Given the description of an element on the screen output the (x, y) to click on. 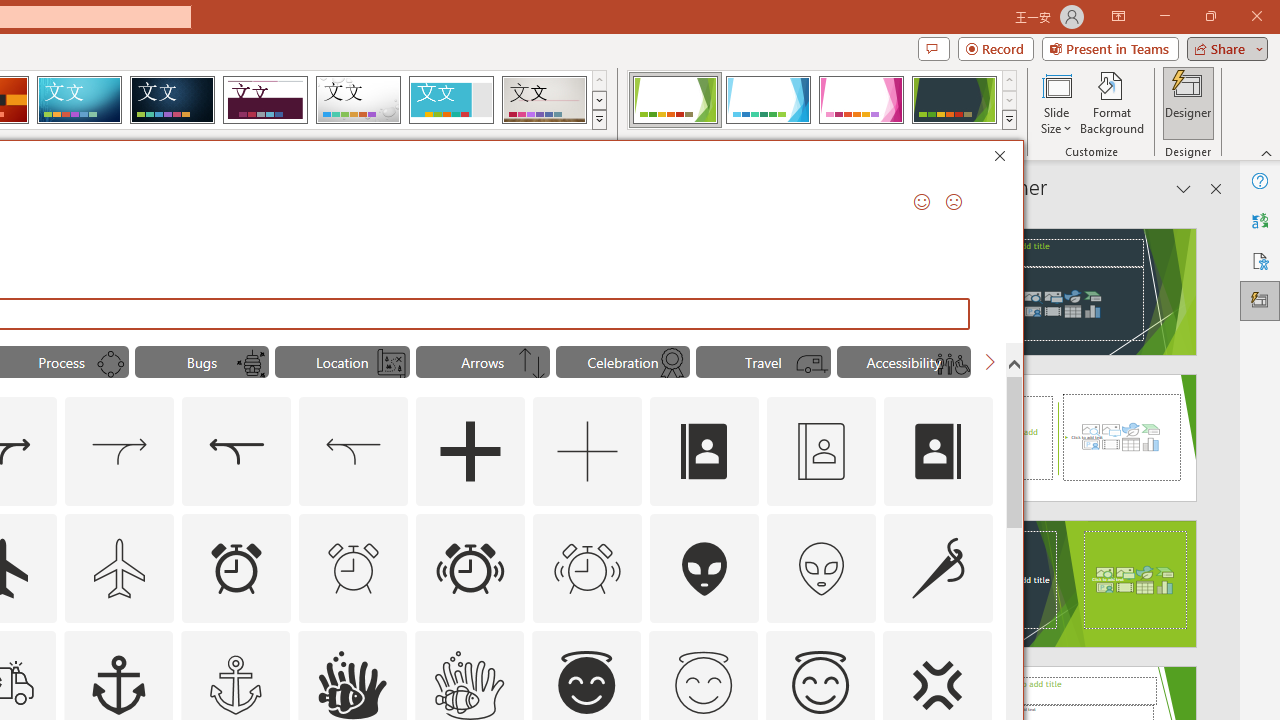
AutomationID: Icons_Acquisition_LTR_M (120, 452)
AutomationID: Icons_BeeWithHive_M (250, 364)
Frame (450, 100)
AutomationID: Icons_AlarmRinging_M (587, 568)
AutomationID: Icons_AlterationsTailoring (938, 568)
AutomationID: Icons_AddressBook_LTR_M (821, 452)
